Given the description of an element on the screen output the (x, y) to click on. 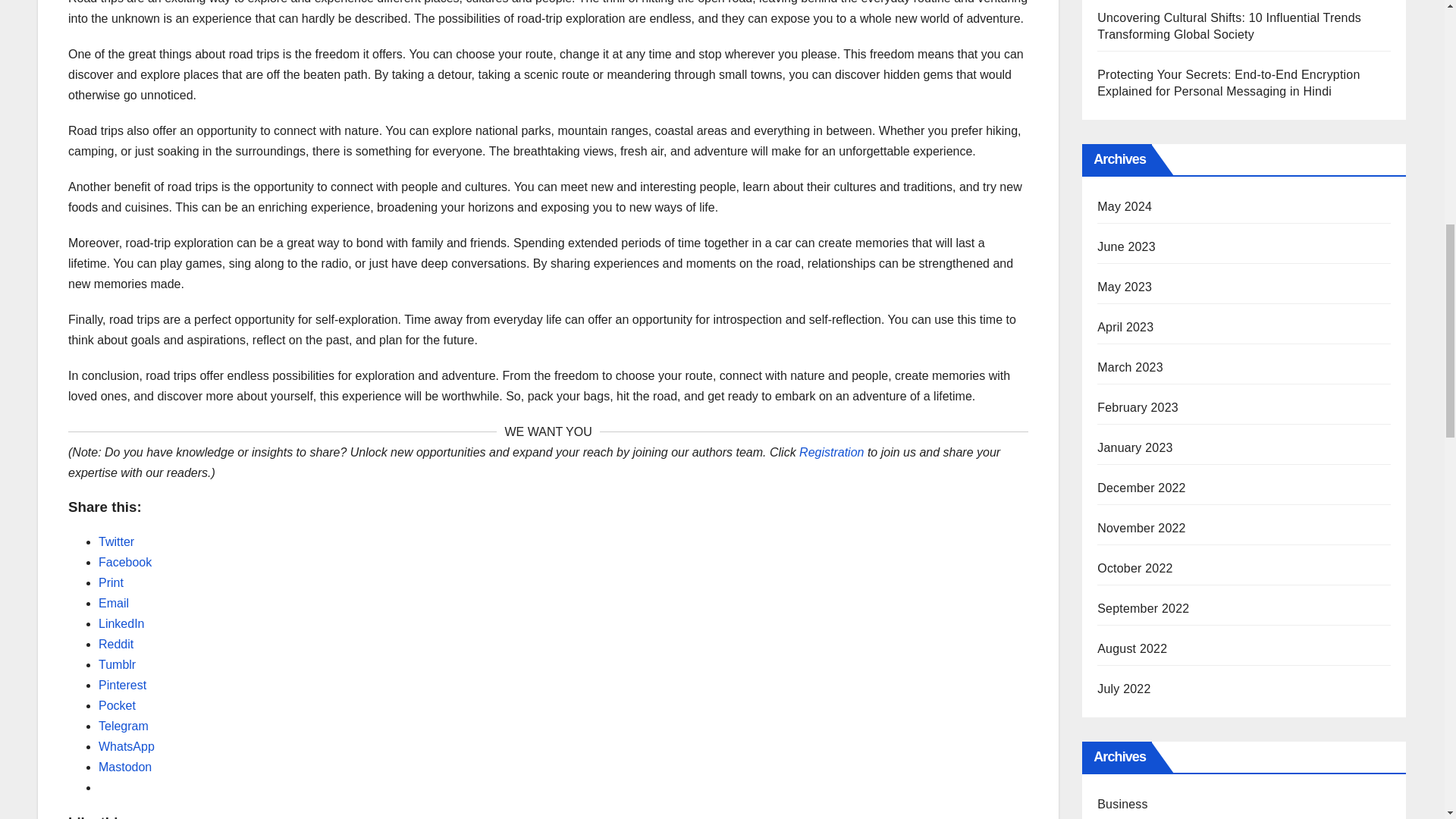
Click to share on LinkedIn (121, 623)
Email (114, 603)
Print (111, 582)
Click to share on Twitter (116, 541)
Click to share on Reddit (116, 644)
Pinterest (123, 684)
Click to share on Facebook (125, 562)
Facebook (125, 562)
Twitter (116, 541)
Click to email a link to a friend (114, 603)
Click to print (111, 582)
Pocket (117, 705)
LinkedIn (121, 623)
Reddit (116, 644)
Tumblr (117, 664)
